Given the description of an element on the screen output the (x, y) to click on. 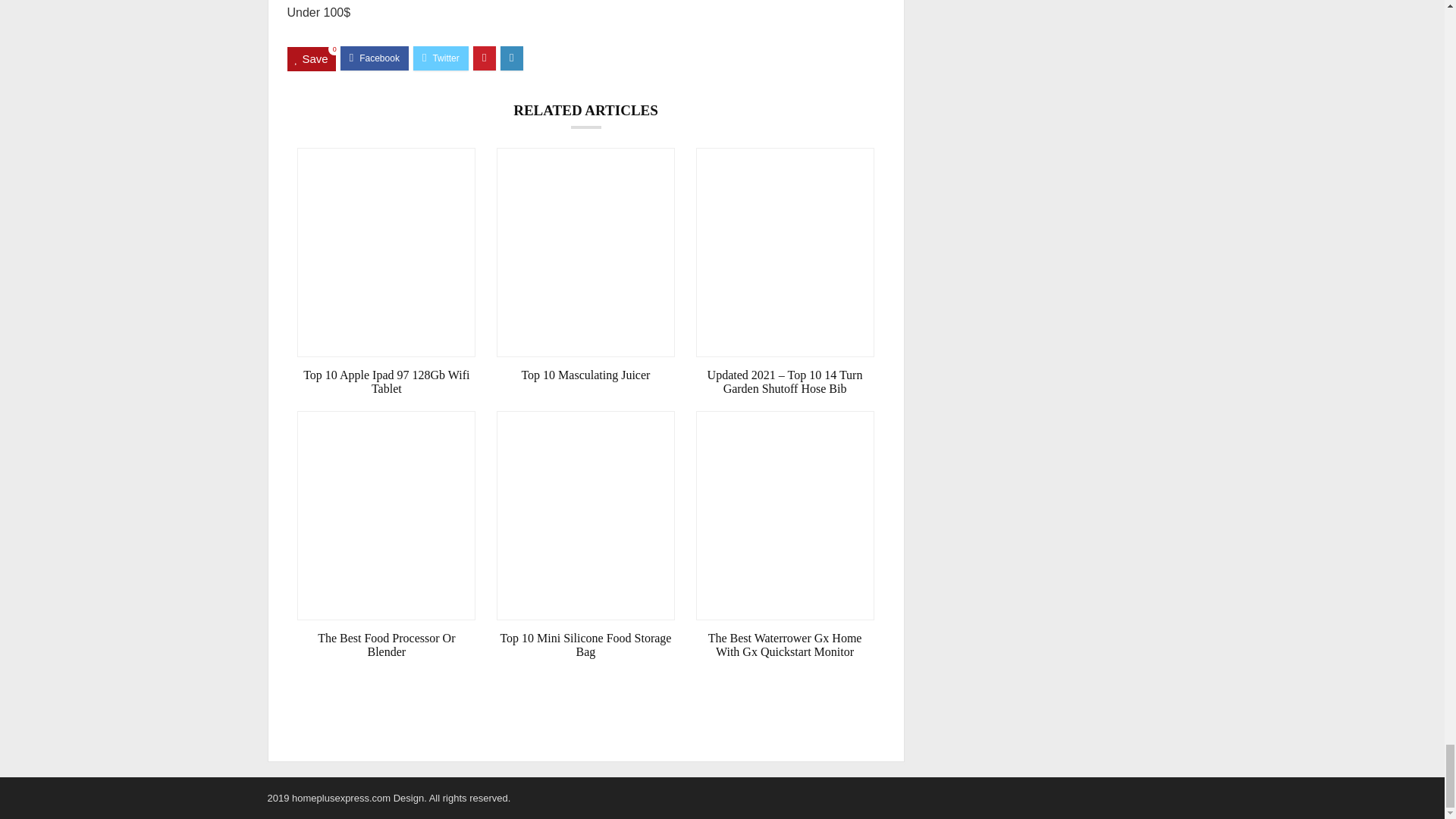
The Best Waterrower Gx Home With Gx Quickstart Monitor (785, 645)
Top 10 Mini Silicone Food Storage Bag (585, 645)
The Best Food Processor Or Blender (386, 645)
Top 10 Masculating Juicer (585, 375)
Top 10 Apple Ipad 97 128Gb Wifi Tablet (386, 381)
